Given the description of an element on the screen output the (x, y) to click on. 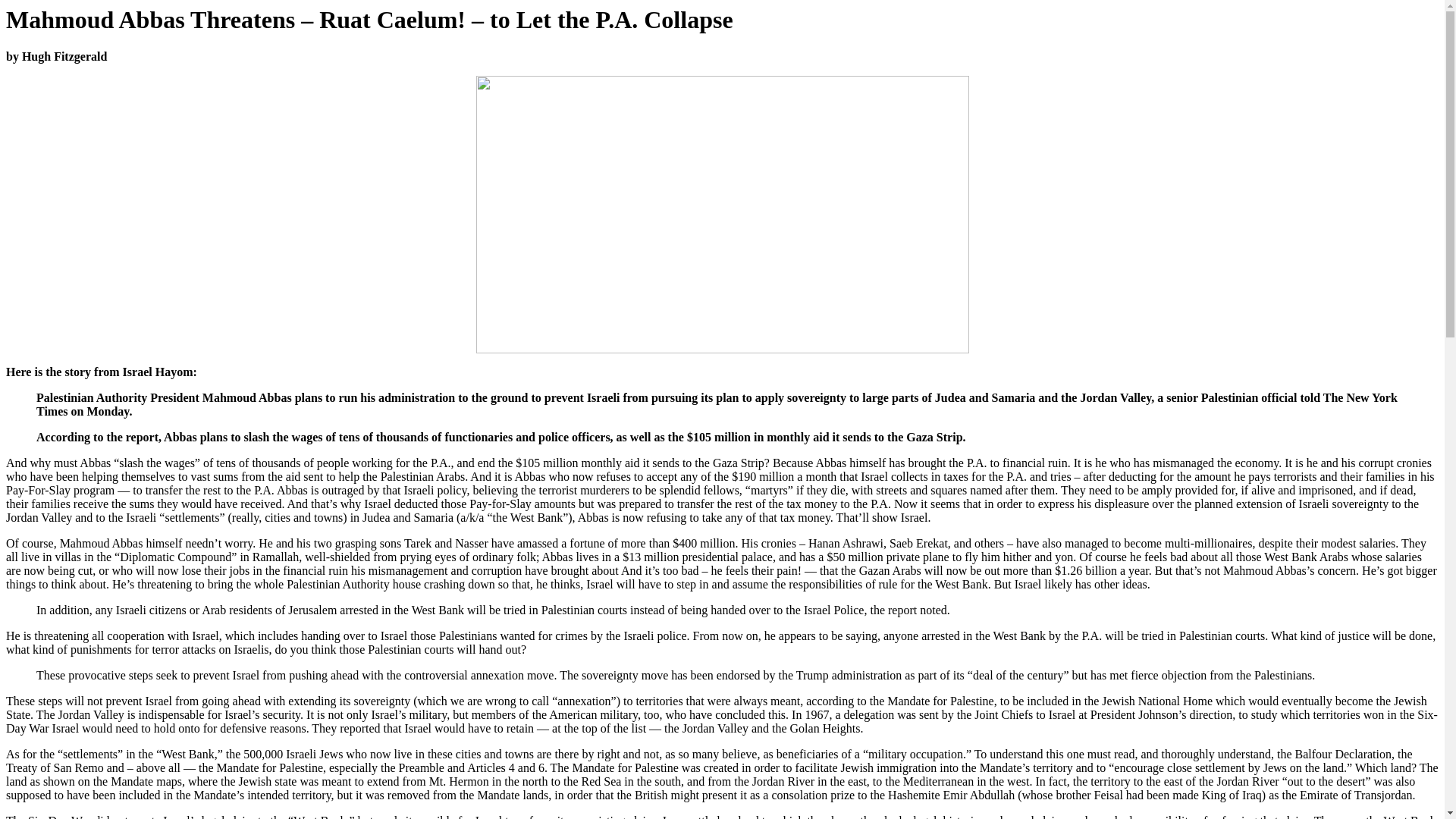
Israel Hayom: (159, 371)
